Given the description of an element on the screen output the (x, y) to click on. 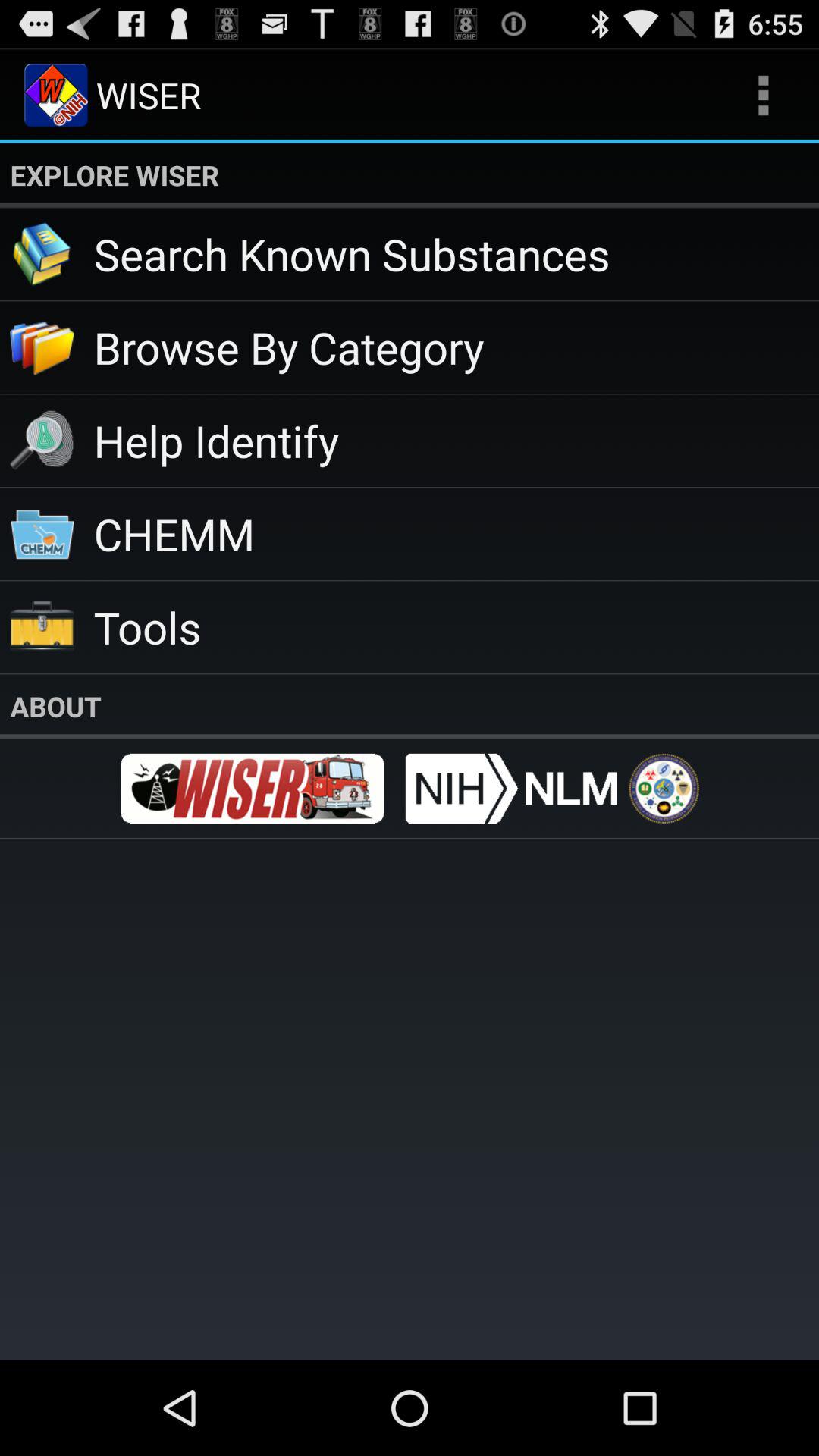
press the icon below the browse by category app (456, 440)
